Given the description of an element on the screen output the (x, y) to click on. 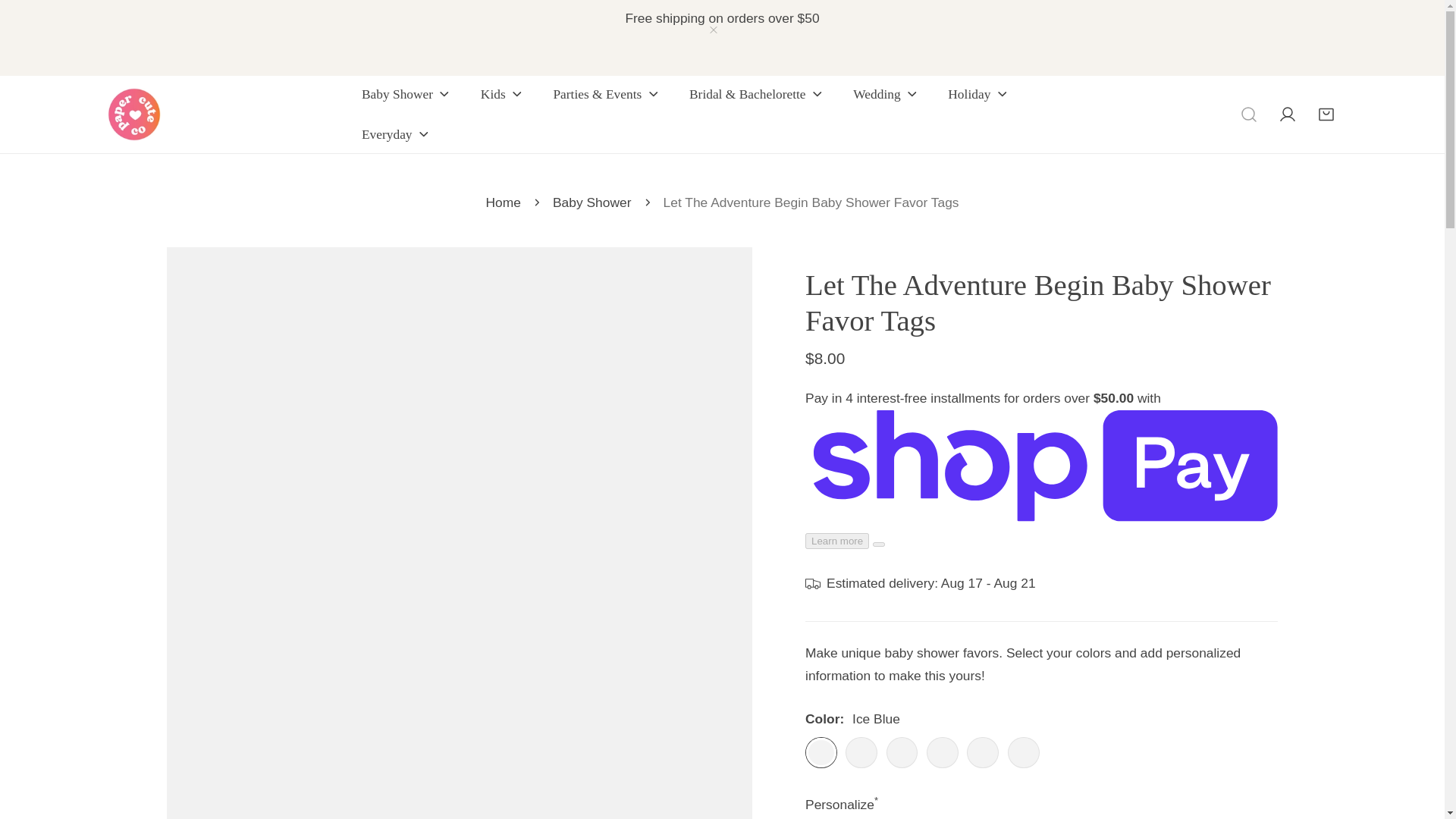
SKIP TO CONTENT (35, 18)
Paper Cute Ink (133, 113)
CLOSE (713, 29)
Home (501, 202)
